Given the description of an element on the screen output the (x, y) to click on. 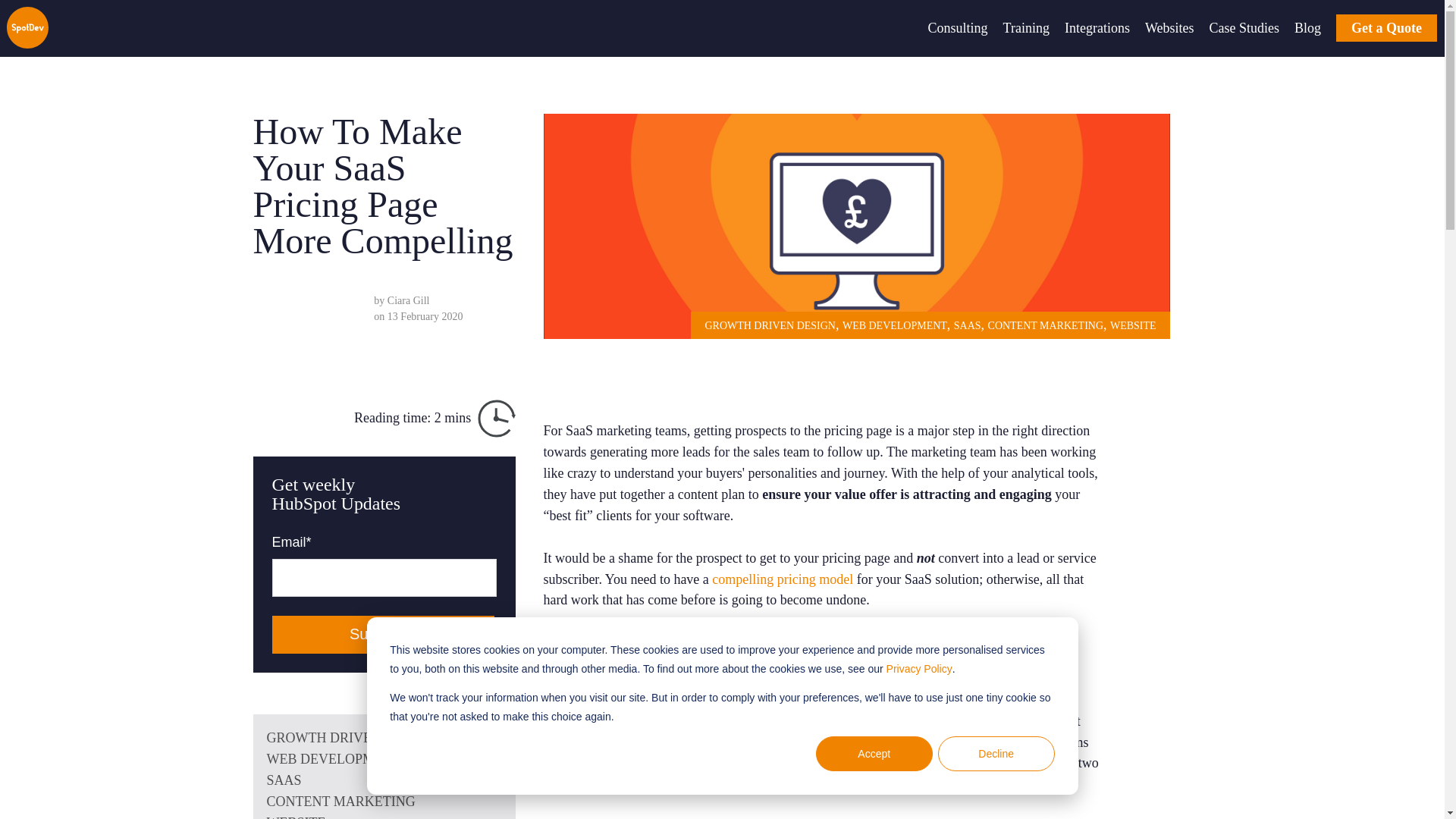
WEBSITE (1132, 325)
CONTENT MARKETING (384, 802)
Subscribe (382, 634)
WEB DEVELOPMENT (895, 325)
Integrations (1096, 28)
CONTENT MARKETING (1045, 325)
compelling pricing model (782, 579)
WEB DEVELOPMENT (384, 759)
SAAS (967, 325)
SAAS (384, 780)
Case Studies (1243, 28)
Blog (1307, 28)
Get a Quote (1386, 27)
Training (1026, 28)
GROWTH DRIVEN DESIGN (769, 325)
